Given the description of an element on the screen output the (x, y) to click on. 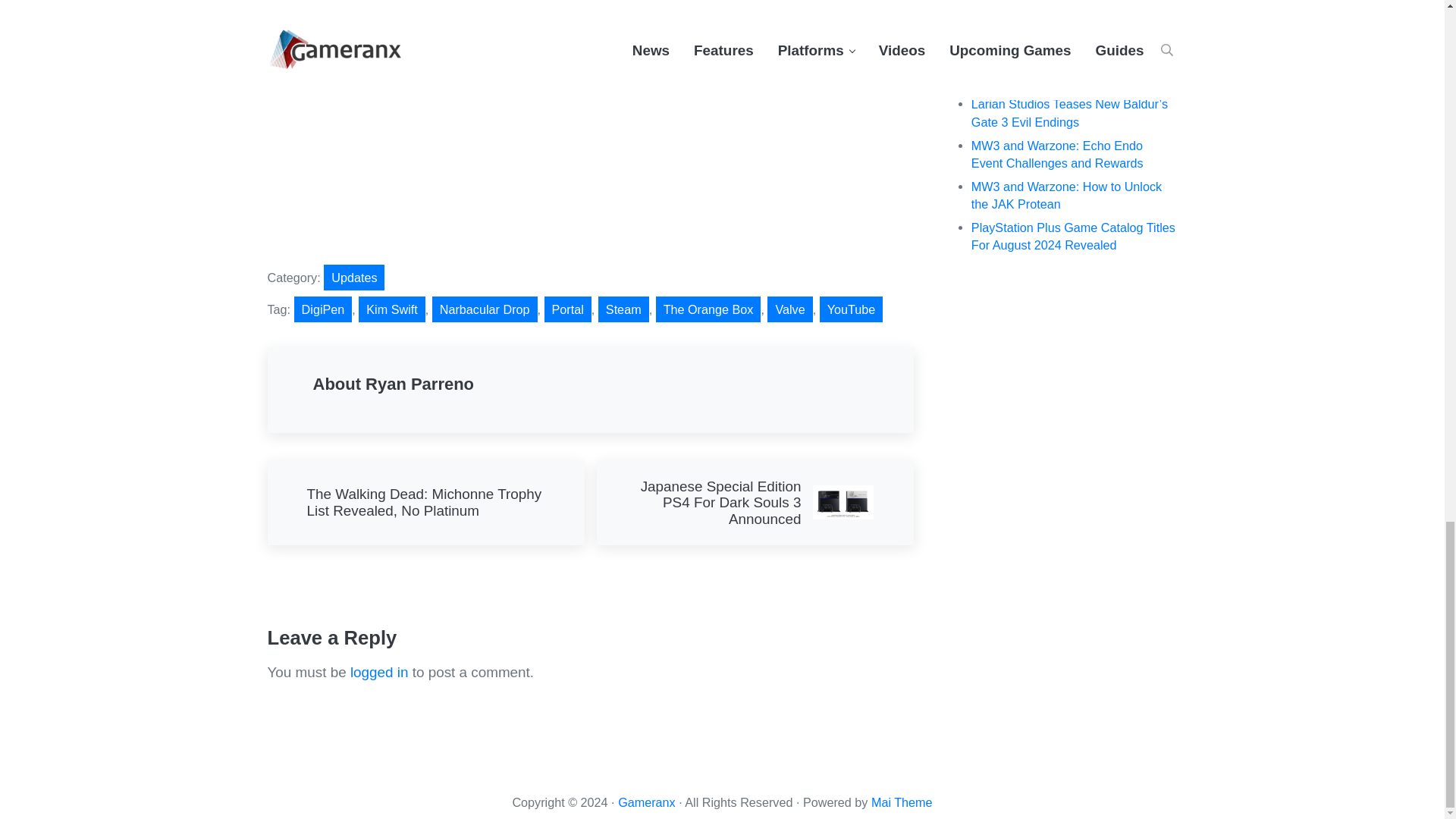
Kim Swift (391, 309)
DigiPen (323, 309)
YouTube (851, 309)
The Orange Box (708, 309)
Narbacular Drop (484, 309)
Steam (623, 309)
Valve (789, 309)
Updates (353, 277)
